Given the description of an element on the screen output the (x, y) to click on. 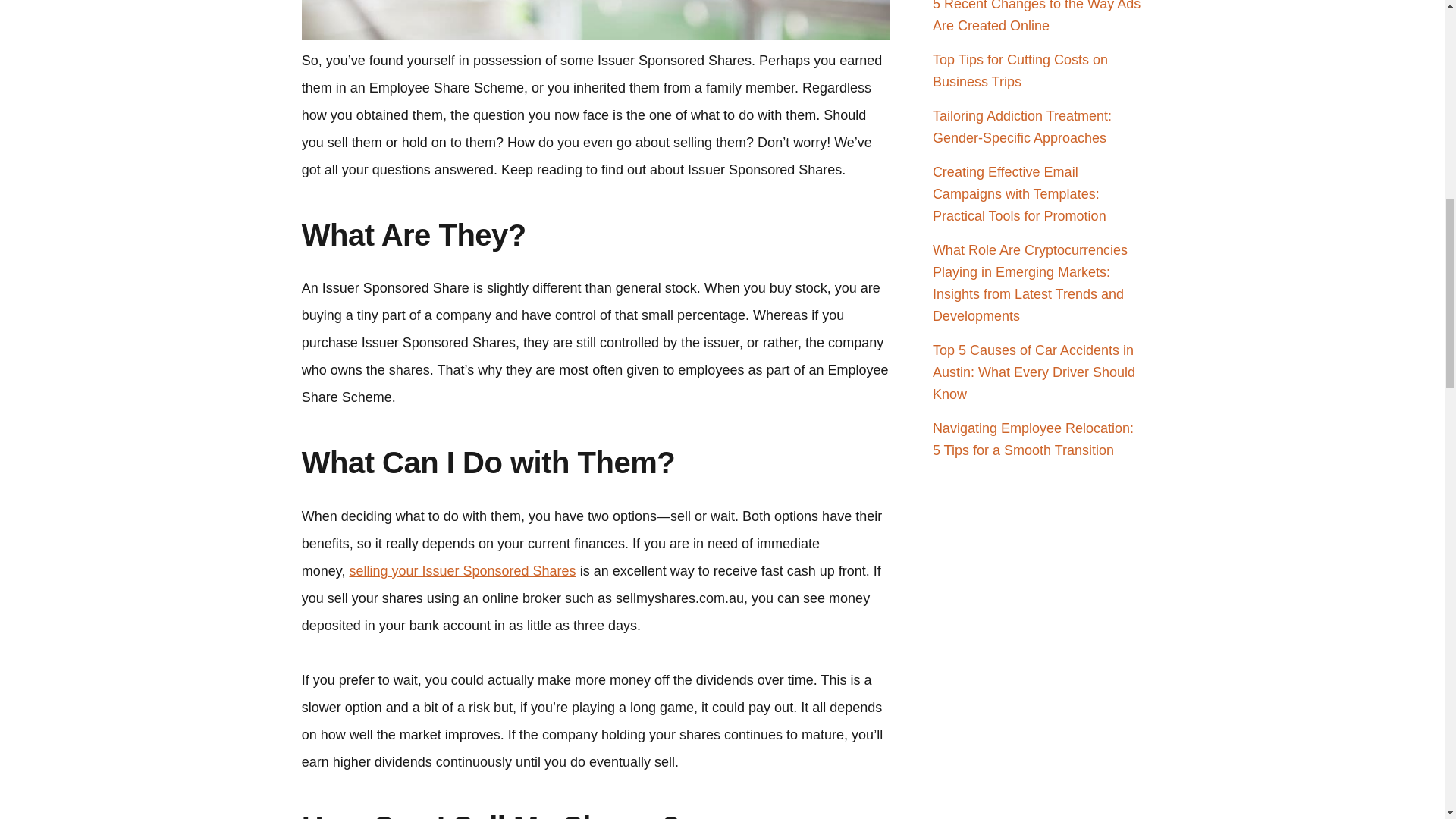
The 2020 Guide to Issuer Sponsored Shares (596, 20)
Tailoring Addiction Treatment: Gender-Specific Approaches (1022, 126)
selling your Issuer Sponsored Shares (462, 570)
5 Recent Changes to the Way Ads Are Created Online (1037, 16)
Top Tips for Cutting Costs on Business Trips (1020, 70)
